Given the description of an element on the screen output the (x, y) to click on. 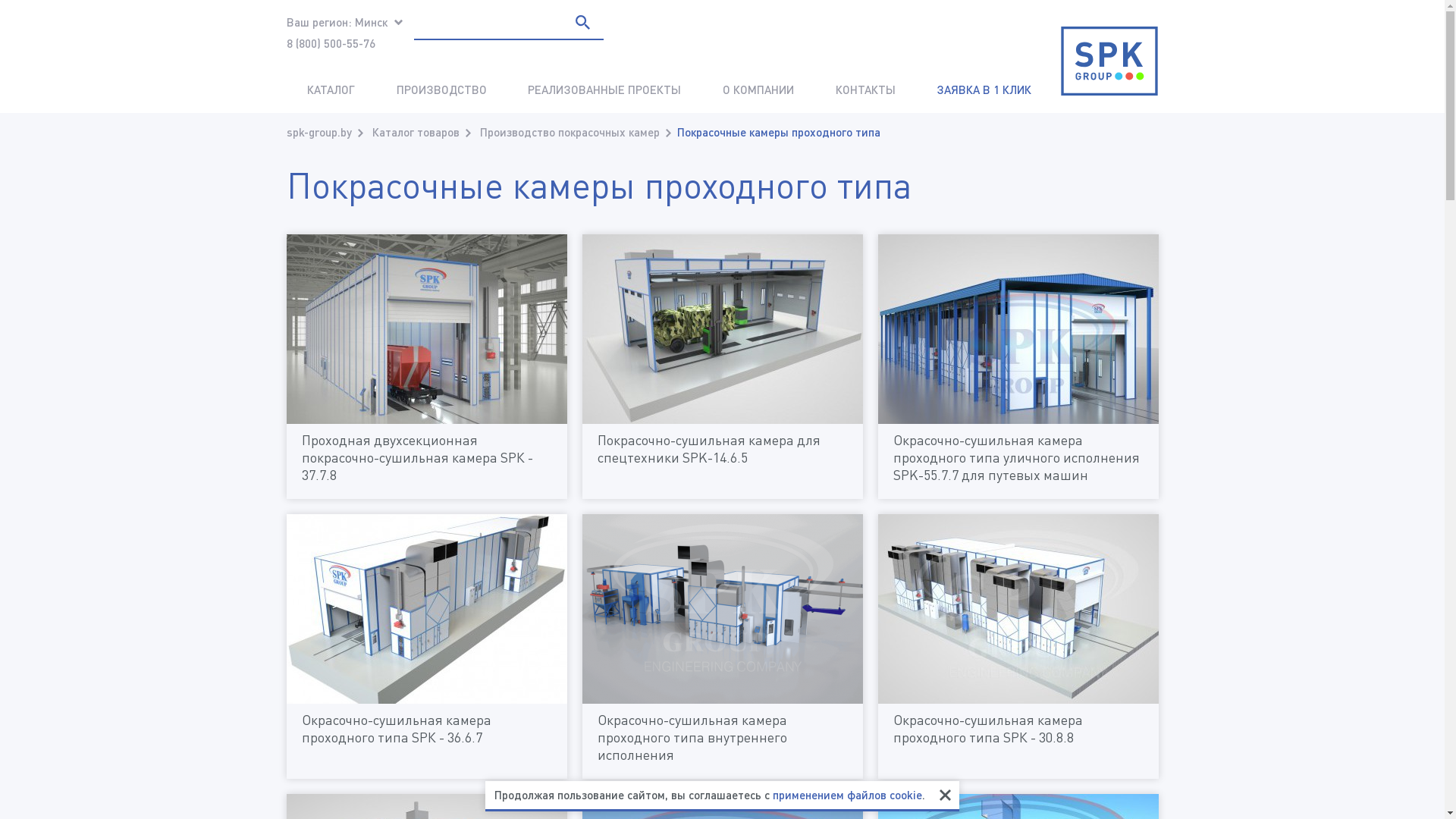
spk-group.by Element type: text (318, 131)
8 (800) 500-55-76 Element type: text (330, 43)
